Given the description of an element on the screen output the (x, y) to click on. 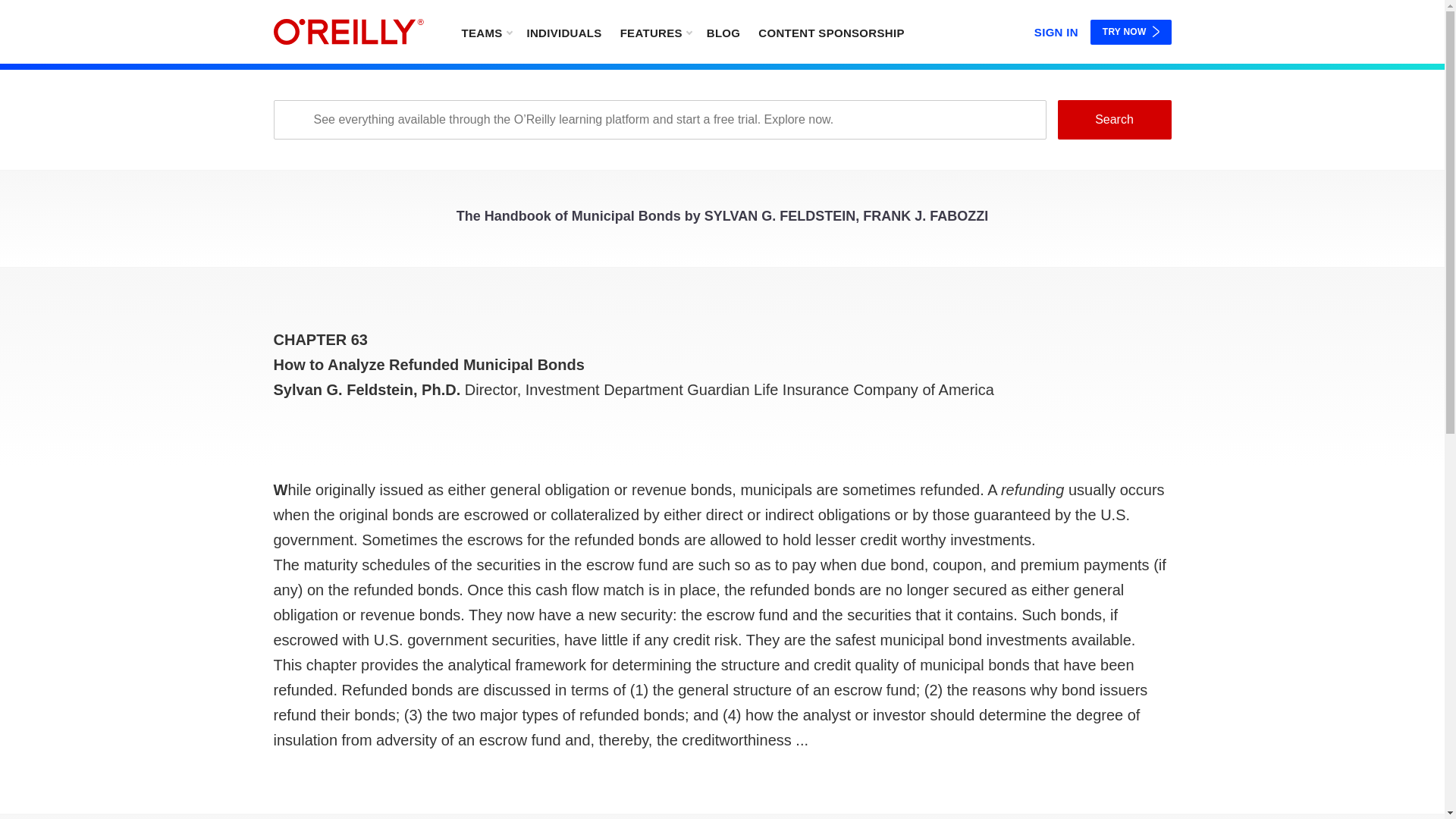
Search (1113, 119)
Search (1113, 119)
home page (348, 31)
INDIVIDUALS (563, 31)
TRY NOW (1131, 32)
CONTENT SPONSORSHIP (831, 31)
Search (1113, 119)
SIGN IN (1055, 29)
FEATURES (655, 31)
BLOG (723, 31)
